Given the description of an element on the screen output the (x, y) to click on. 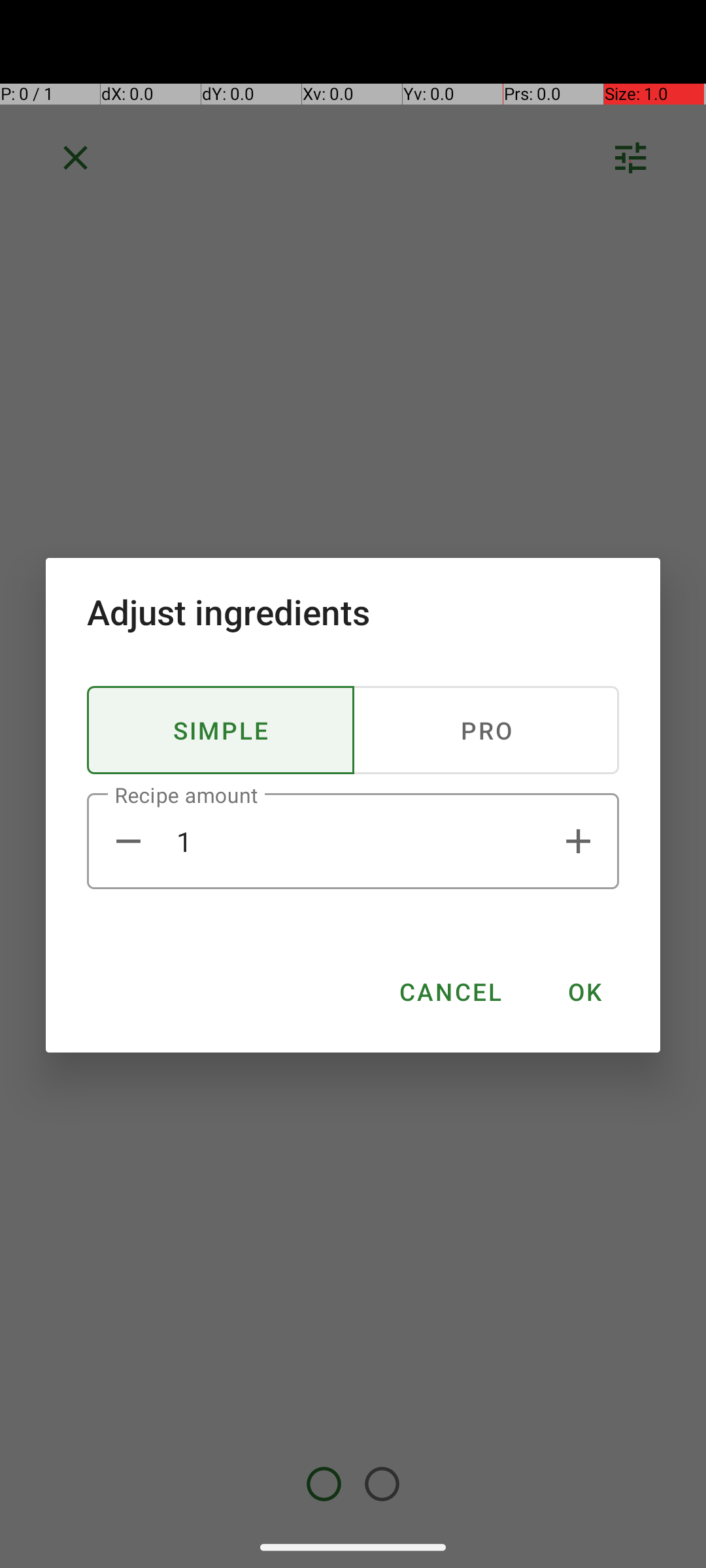
SIMPLE Element type: android.widget.CompoundButton (220, 730)
PRO Element type: android.widget.CompoundButton (485, 730)
